Given the description of an element on the screen output the (x, y) to click on. 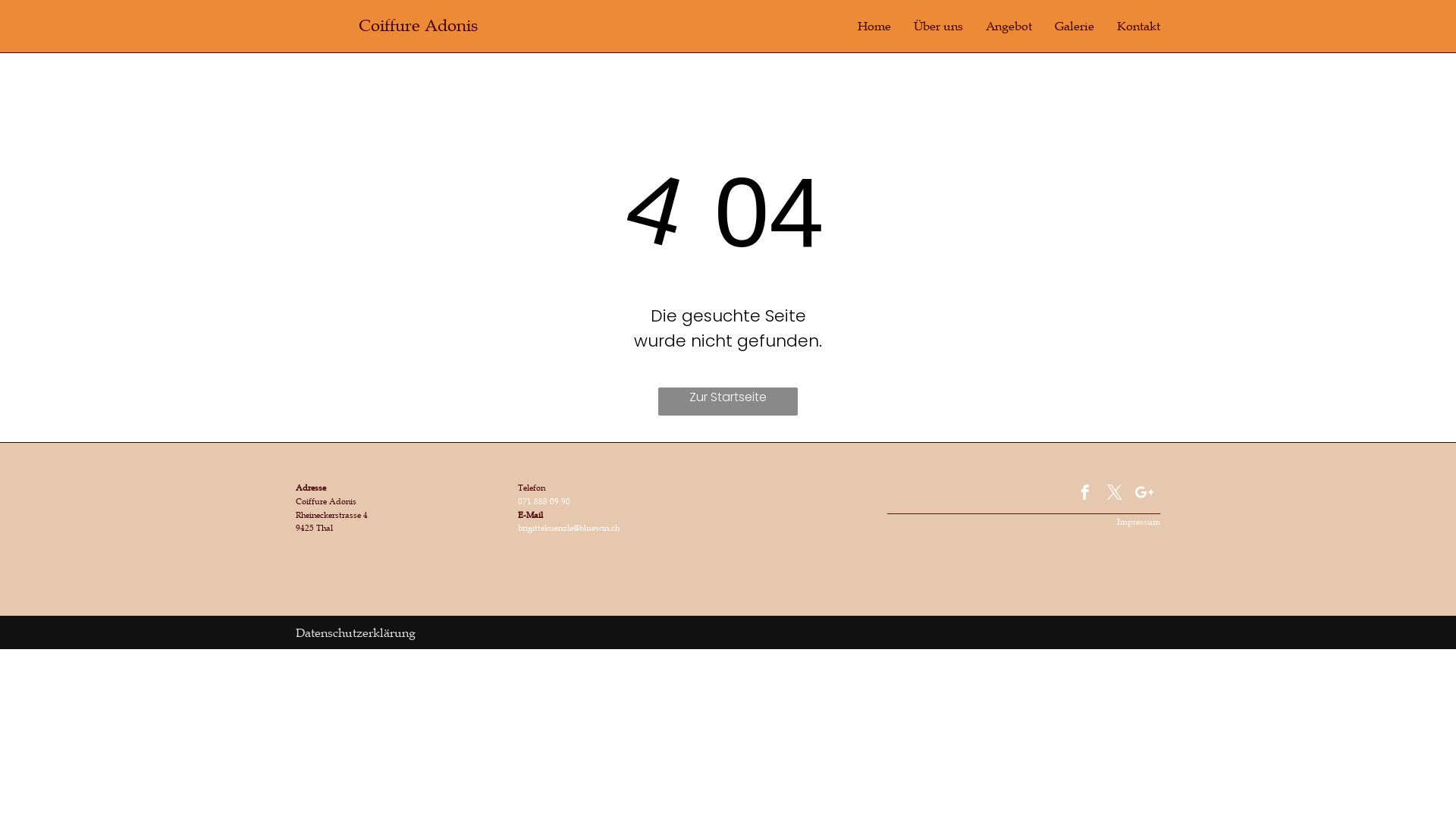
Home Element type: text (874, 26)
Galerie Element type: text (1074, 26)
brigittekuenzle@bluewin.ch Element type: text (567, 527)
Coiffure Adonis Element type: text (417, 25)
Zur Startseite Element type: text (727, 401)
071 888 09 90 Element type: text (543, 500)
Angebot Element type: text (1008, 26)
Kontakt Element type: text (1138, 26)
Impressum Element type: text (1138, 521)
